Given the description of an element on the screen output the (x, y) to click on. 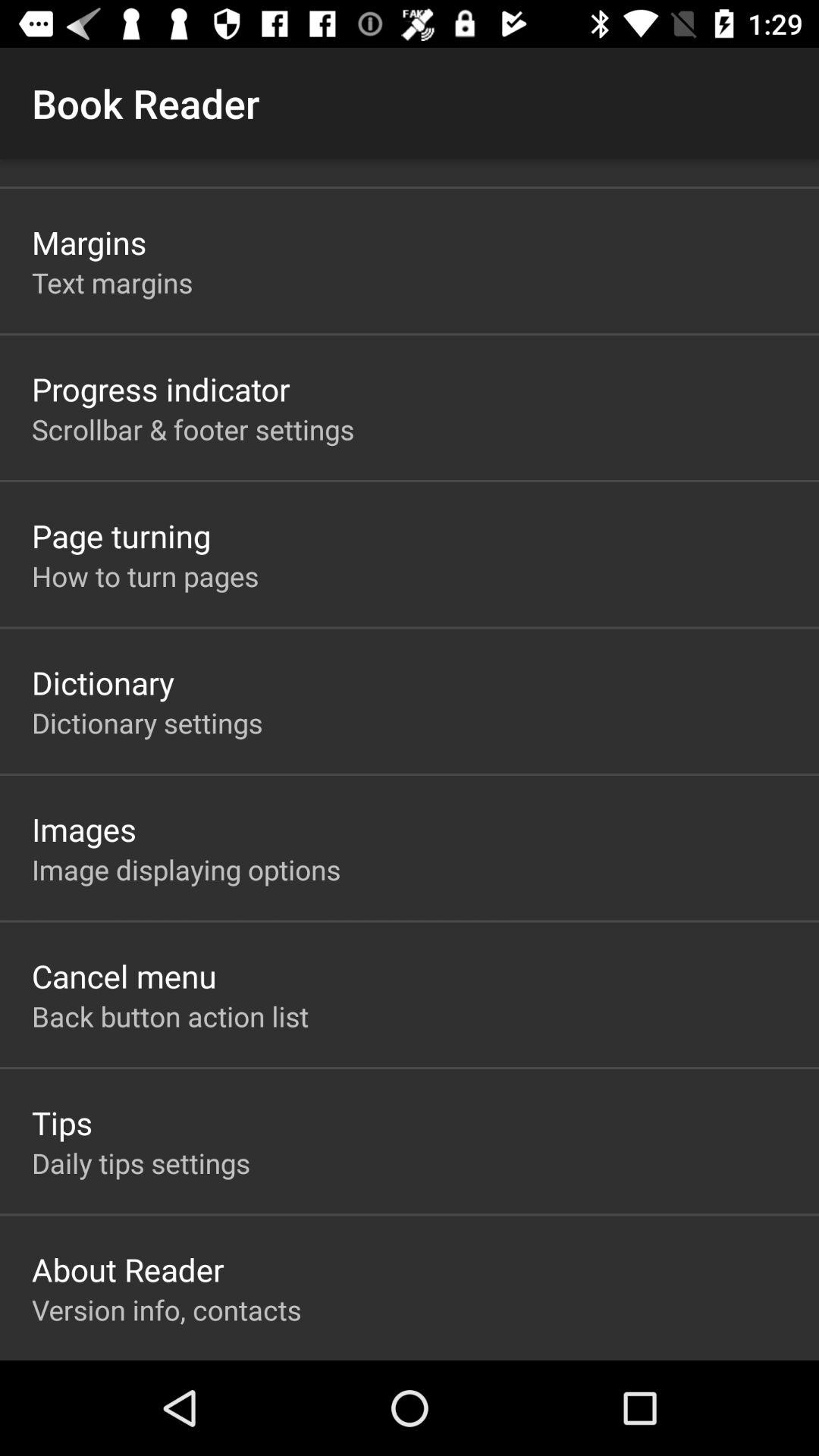
select the item above the back button action item (123, 975)
